Given the description of an element on the screen output the (x, y) to click on. 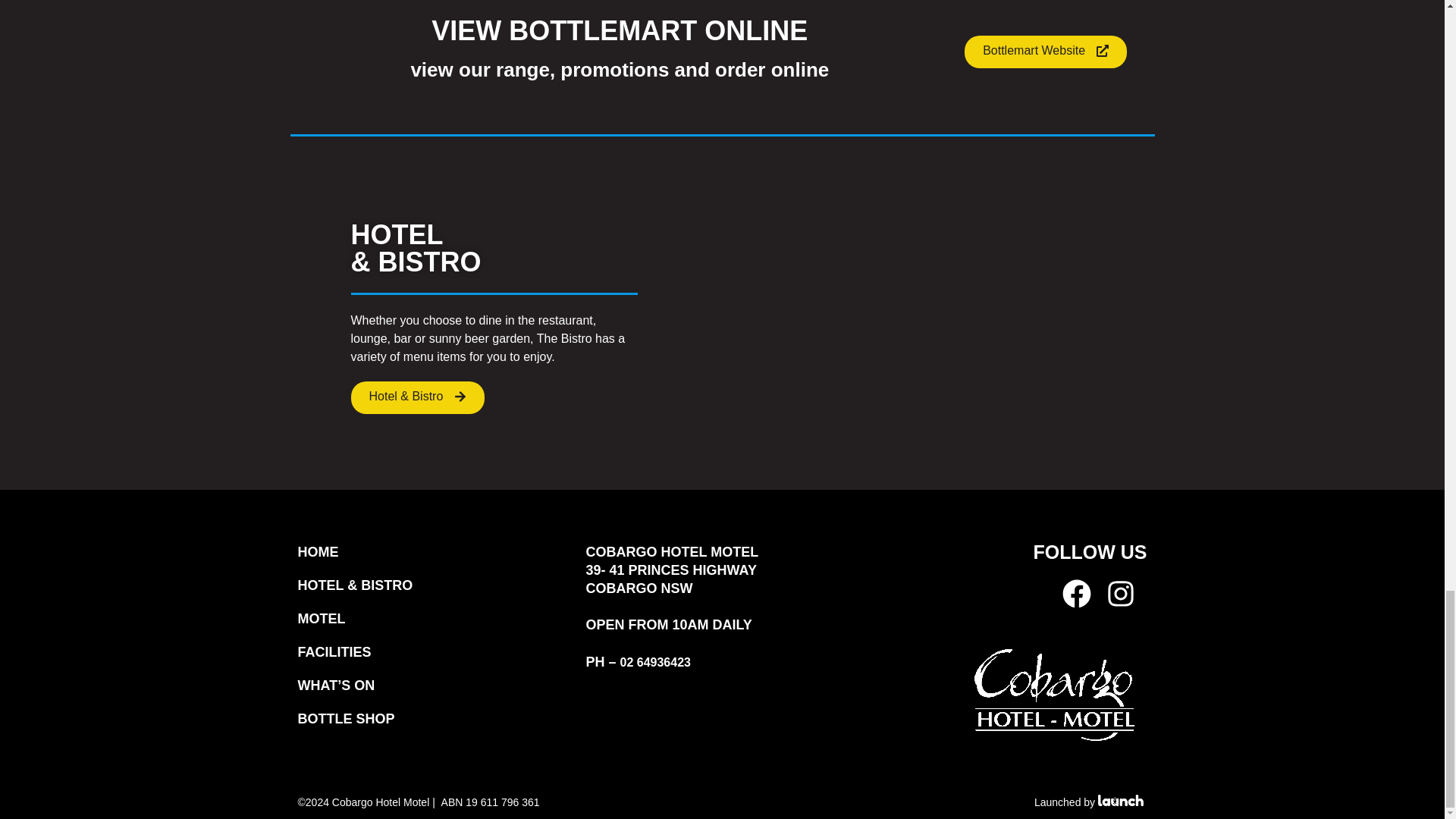
Launch (1119, 799)
Bottlemart Website (1044, 51)
BOTTLE SHOP (433, 726)
FACILITIES (433, 659)
02 64936423 (655, 662)
HOME (433, 559)
MOTEL (433, 625)
